Given the description of an element on the screen output the (x, y) to click on. 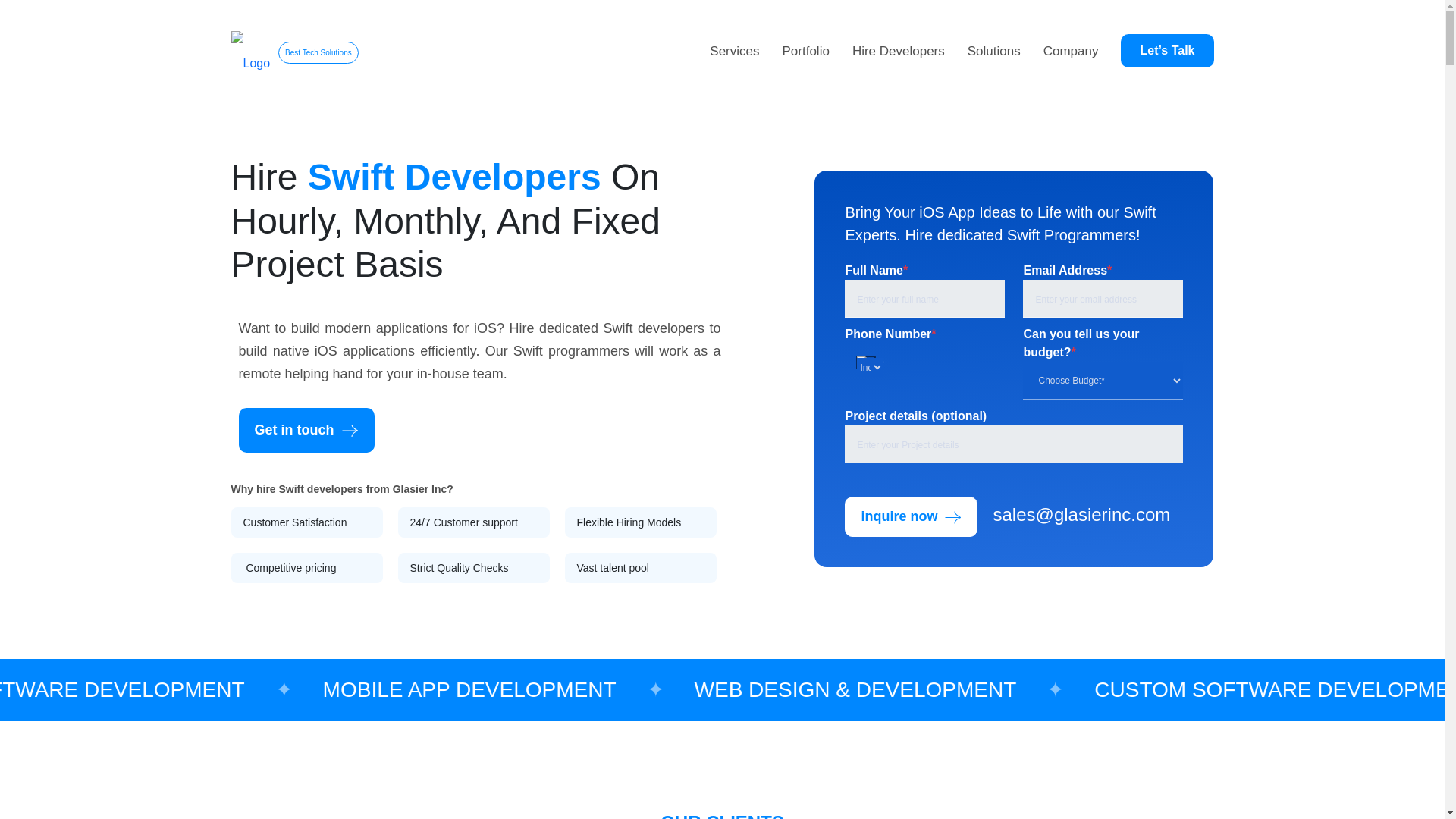
Services (734, 50)
